Given the description of an element on the screen output the (x, y) to click on. 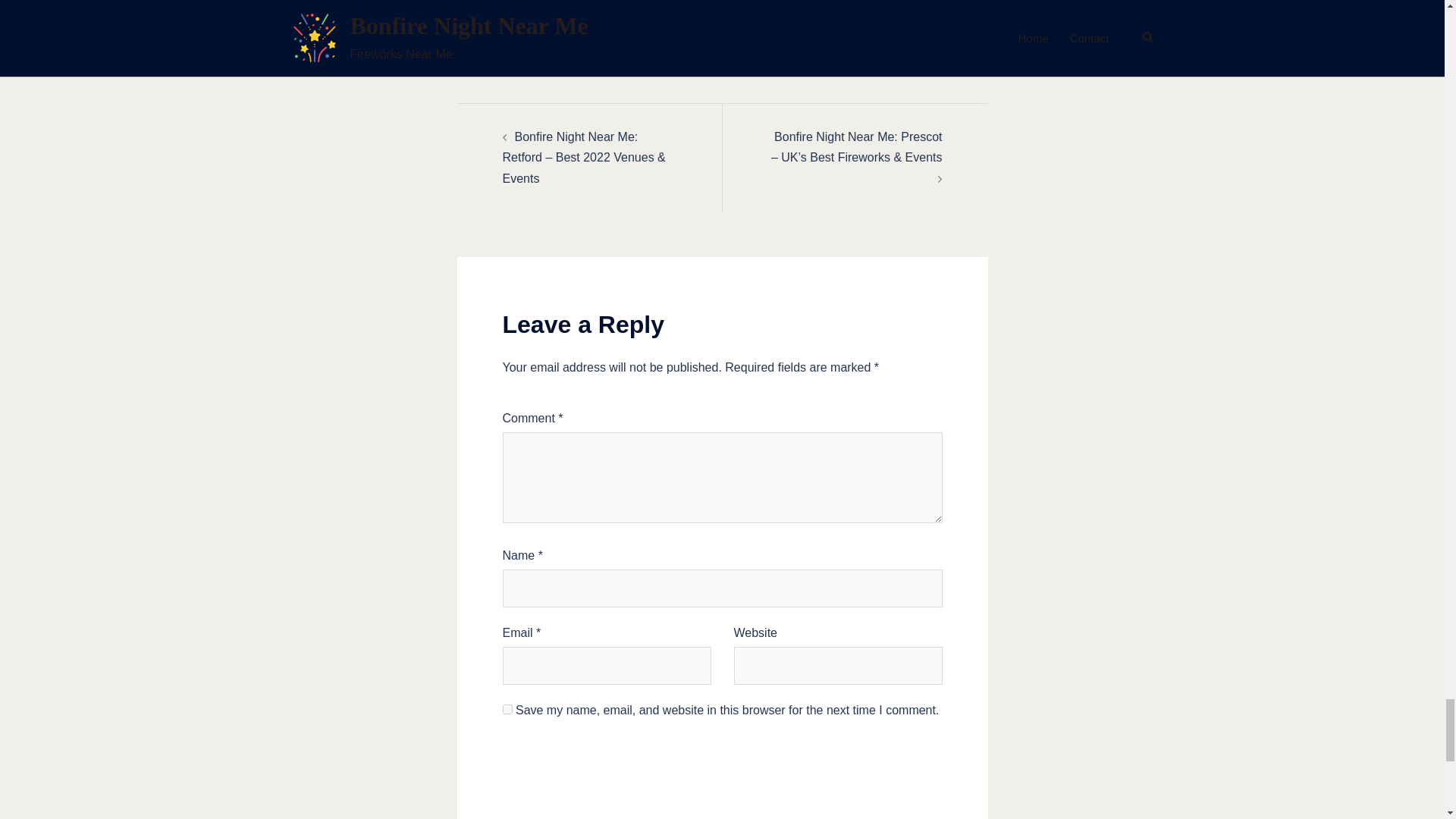
yes (507, 709)
Post Comment (722, 772)
